Given the description of an element on the screen output the (x, y) to click on. 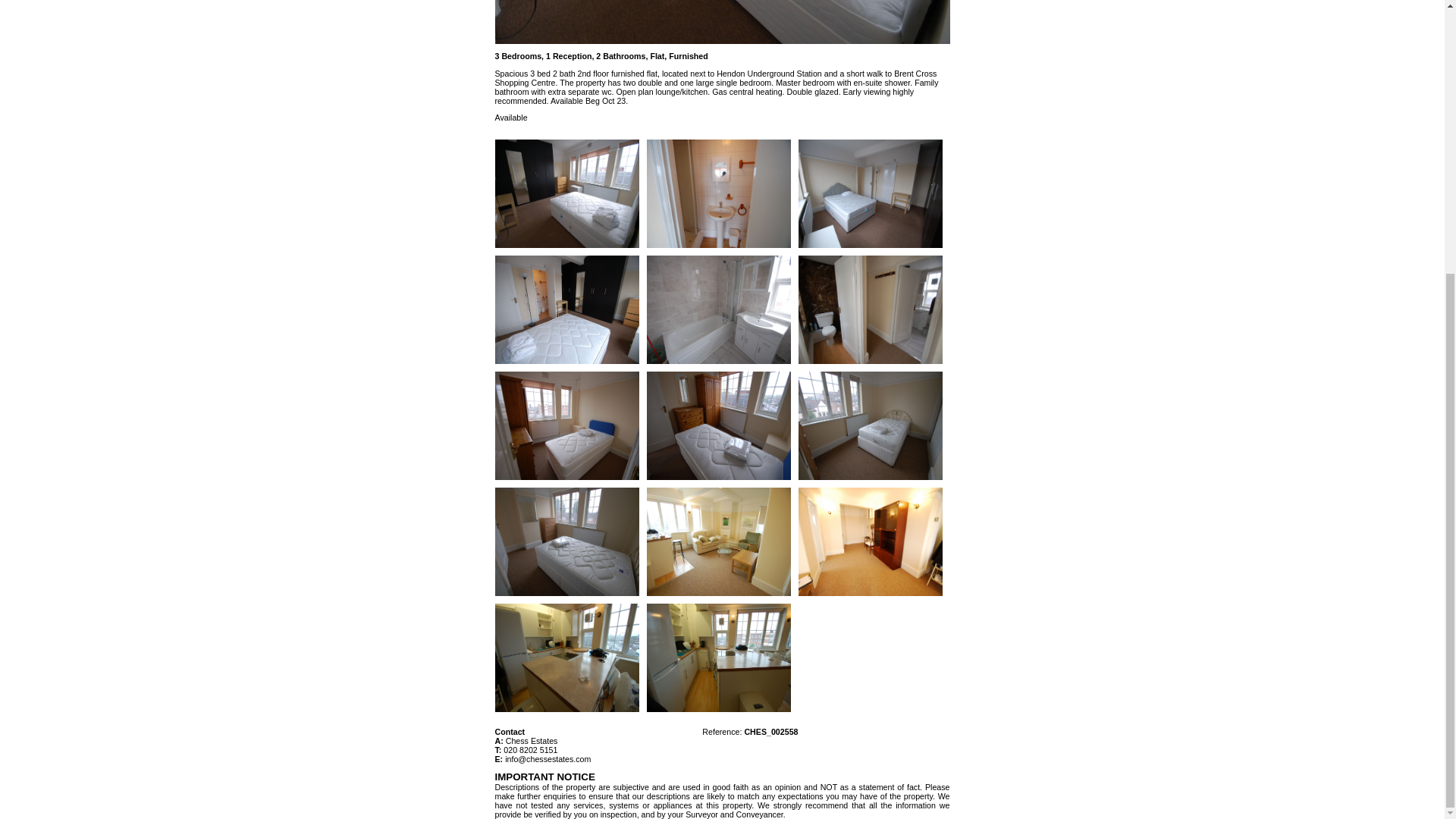
Photo 9 (567, 425)
Photo 11 (869, 425)
Photo 4 (567, 309)
Photo 16 (567, 657)
Photo 1 (567, 193)
Photo 15 (869, 541)
Photo 14 (718, 541)
Photo 6 (718, 309)
Photo 17 (718, 657)
Photo 8 (869, 309)
Photo 2 (718, 193)
Photo 10 (718, 425)
Photo 3 (869, 193)
Photo 12 (567, 541)
